Given the description of an element on the screen output the (x, y) to click on. 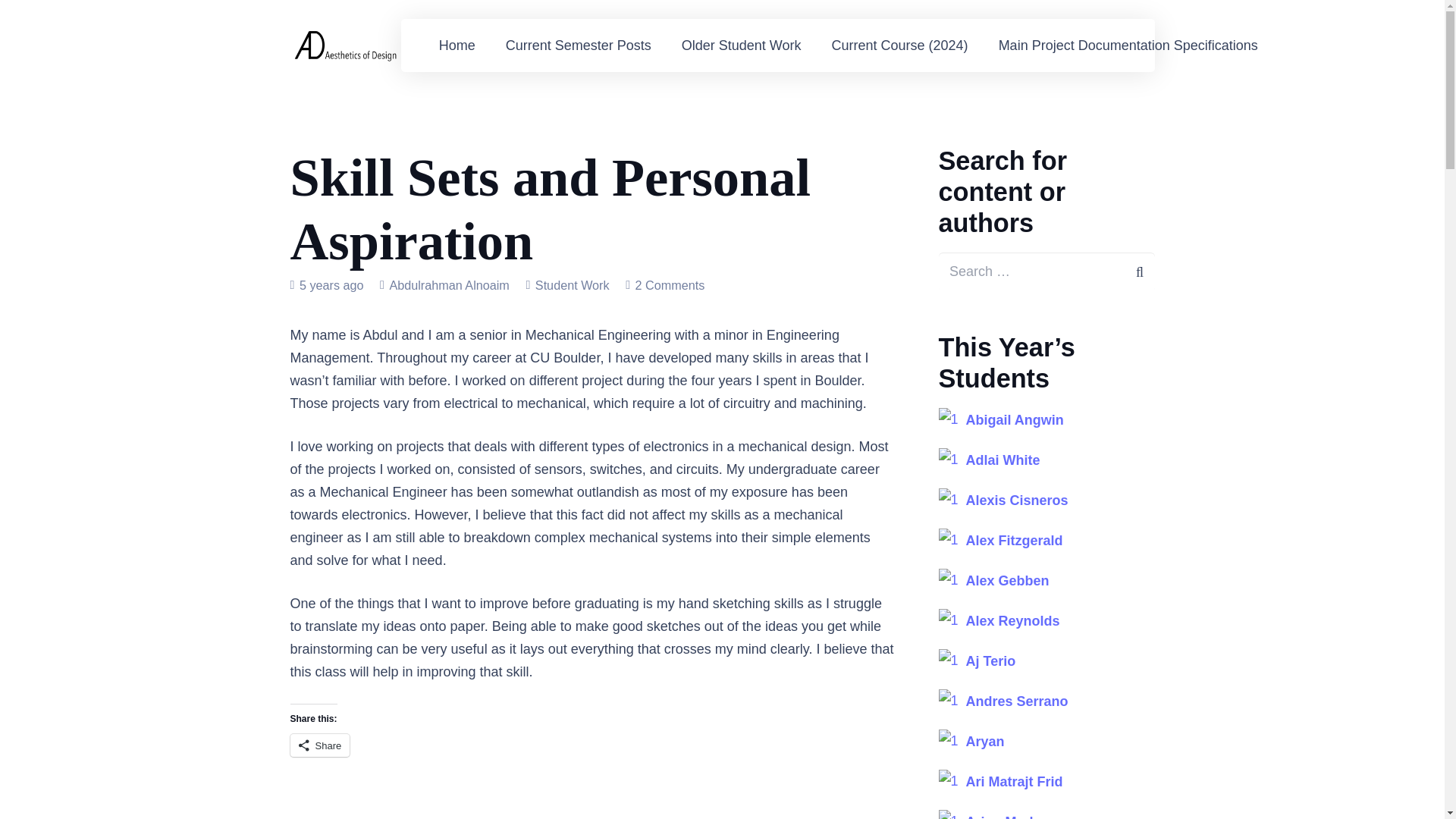
Older Student Work (741, 45)
2 Comments (669, 284)
Current Semester Posts (578, 45)
Home (456, 45)
